Given the description of an element on the screen output the (x, y) to click on. 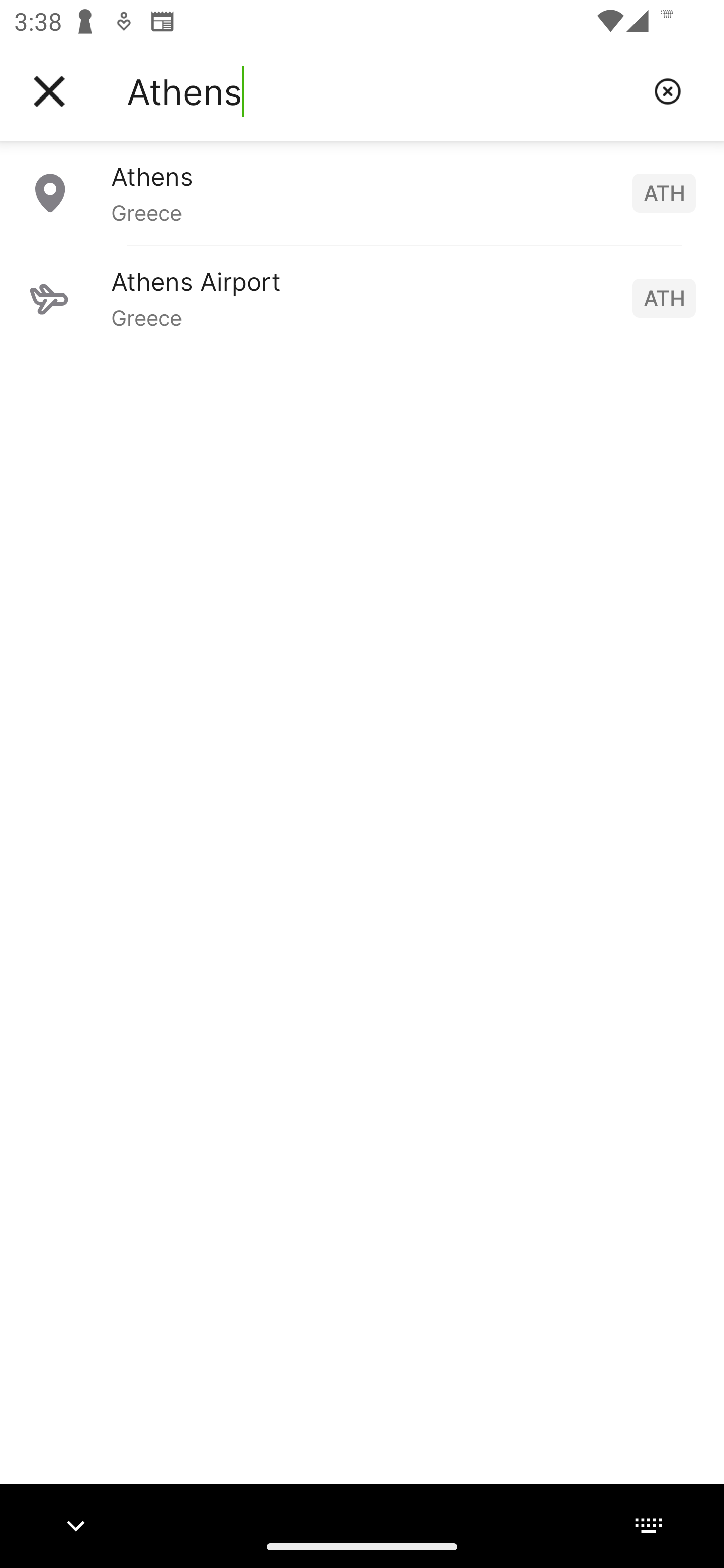
Athens (382, 91)
Athens Greece ATH (362, 192)
Athens Airport Greece ATH (362, 297)
